Given the description of an element on the screen output the (x, y) to click on. 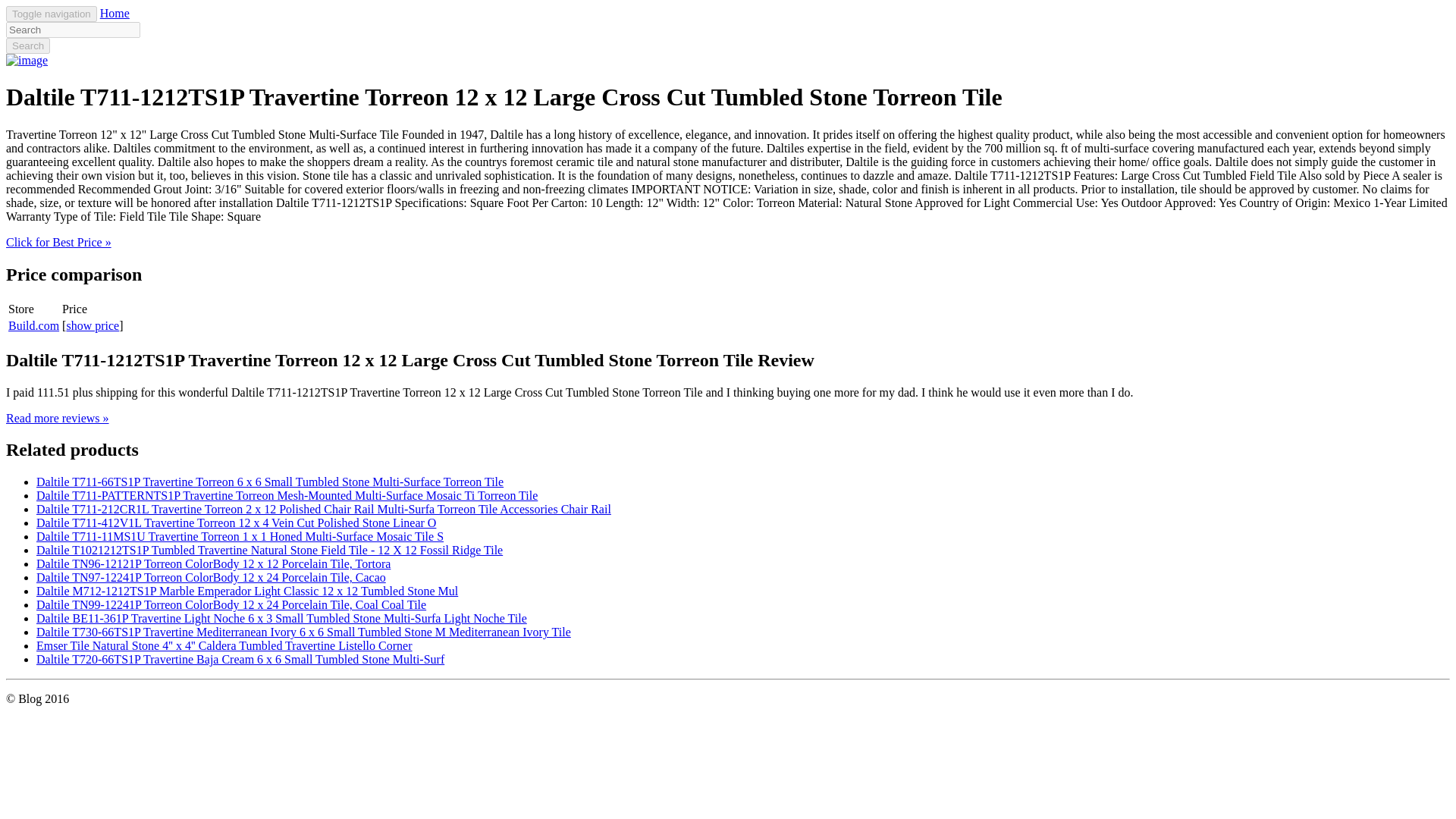
Toggle navigation (51, 13)
Build.com (33, 325)
Search (27, 45)
